Given the description of an element on the screen output the (x, y) to click on. 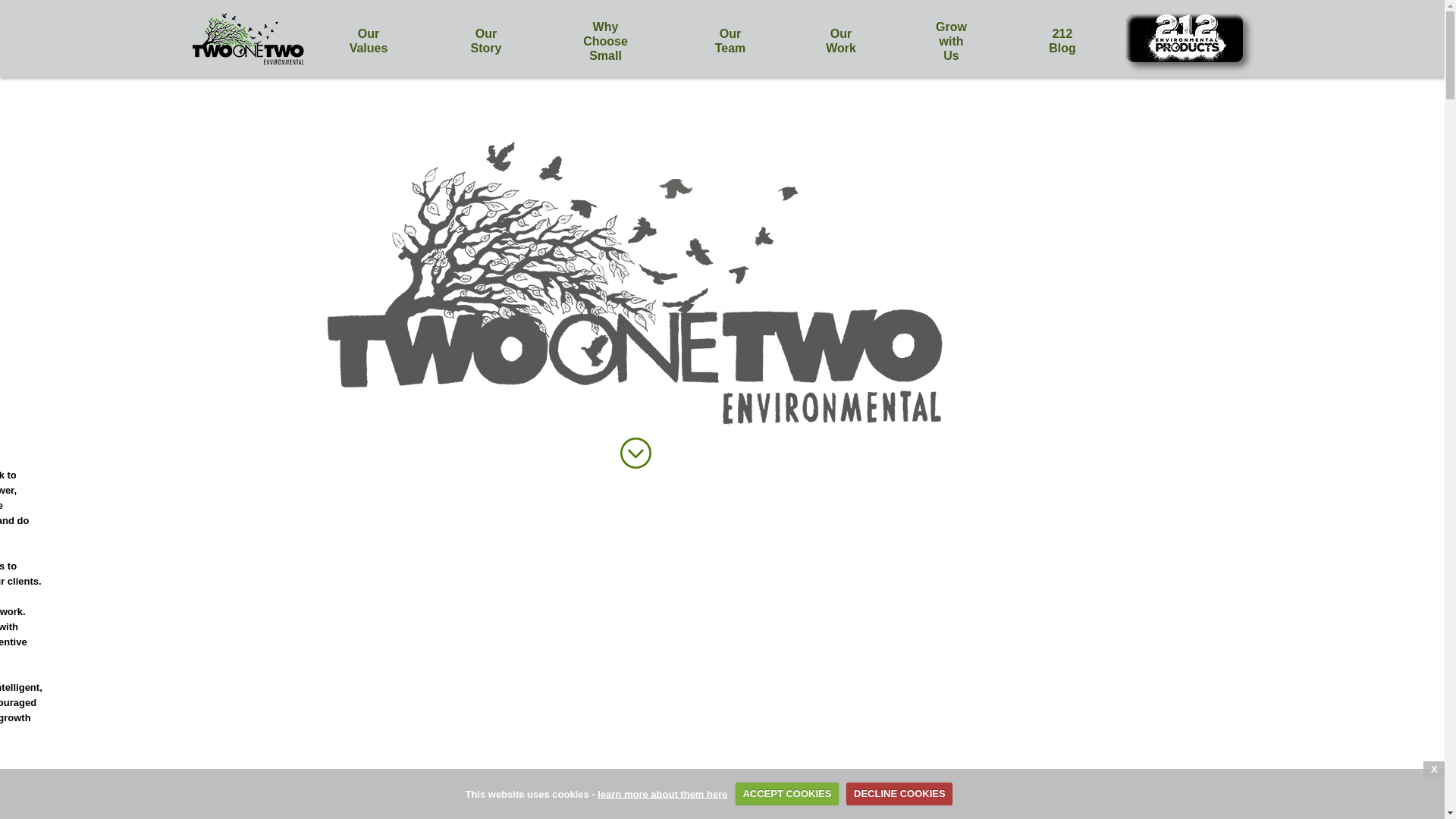
Why
Choose
Small Element type: text (605, 40)
learn more about them here Element type: text (662, 793)
212
Blog Element type: text (1061, 40)
Grow
with
Us Element type: text (951, 40)
Our
Team Element type: text (729, 40)
DECLINE COOKIES Element type: text (899, 793)
Our
Work Element type: text (841, 40)
Our
Story Element type: text (486, 40)
Our
Values Element type: text (368, 40)
ACCEPT COOKIES Element type: text (787, 793)
